Given the description of an element on the screen output the (x, y) to click on. 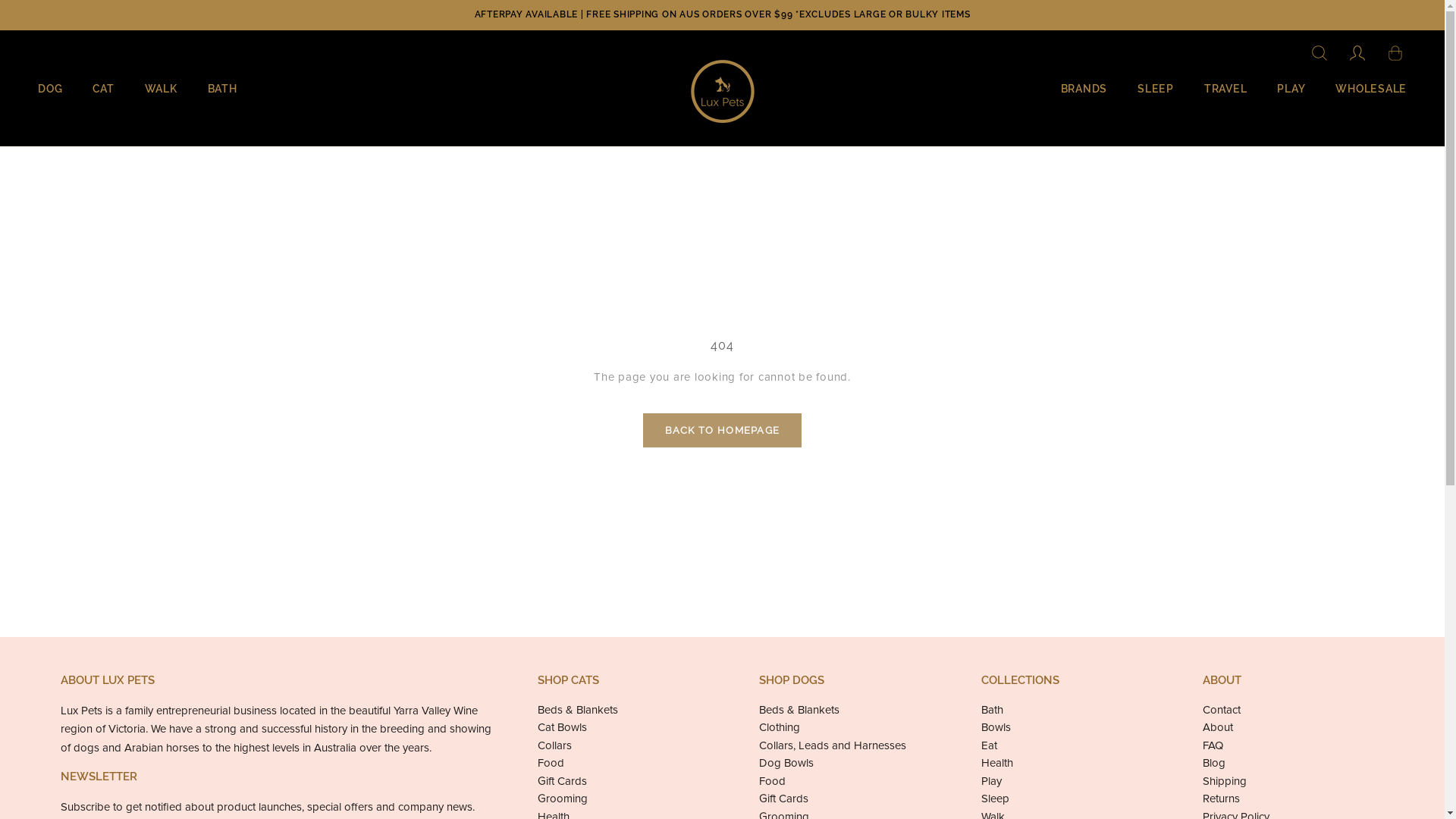
TRAVEL
TRAVEL Element type: text (1225, 90)
PLAY
PLAY Element type: text (1291, 90)
BATH
BATH Element type: text (222, 90)
DOG
DOG Element type: text (49, 90)
WHOLESALE
WHOLESALE Element type: text (1370, 90)
FAQ Element type: text (1292, 745)
Grooming Element type: text (627, 798)
BRANDS
BRANDS Element type: text (1083, 90)
Collars, Leads and Harnesses Element type: text (849, 745)
Beds & Blankets Element type: text (627, 709)
SLEEP
SLEEP Element type: text (1155, 90)
Health Element type: text (1071, 762)
Beds & Blankets Element type: text (849, 709)
0 Element type: text (1394, 53)
BACK TO HOMEPAGE Element type: text (722, 430)
Eat Element type: text (1071, 745)
Cat Bowls Element type: text (627, 727)
Gift Cards Element type: text (849, 798)
Play Element type: text (1071, 781)
About Element type: text (1292, 727)
Sleep Element type: text (1071, 798)
Contact Element type: text (1292, 709)
Clothing Element type: text (849, 727)
Food Element type: text (849, 781)
Blog Element type: text (1292, 762)
Food Element type: text (627, 762)
CAT
CAT Element type: text (102, 90)
Bath Element type: text (1071, 709)
Dog Bowls Element type: text (849, 762)
Bowls Element type: text (1071, 727)
Collars Element type: text (627, 745)
Shipping Element type: text (1292, 781)
Returns Element type: text (1292, 798)
Gift Cards Element type: text (627, 781)
WALK
WALK Element type: text (160, 90)
